Given the description of an element on the screen output the (x, y) to click on. 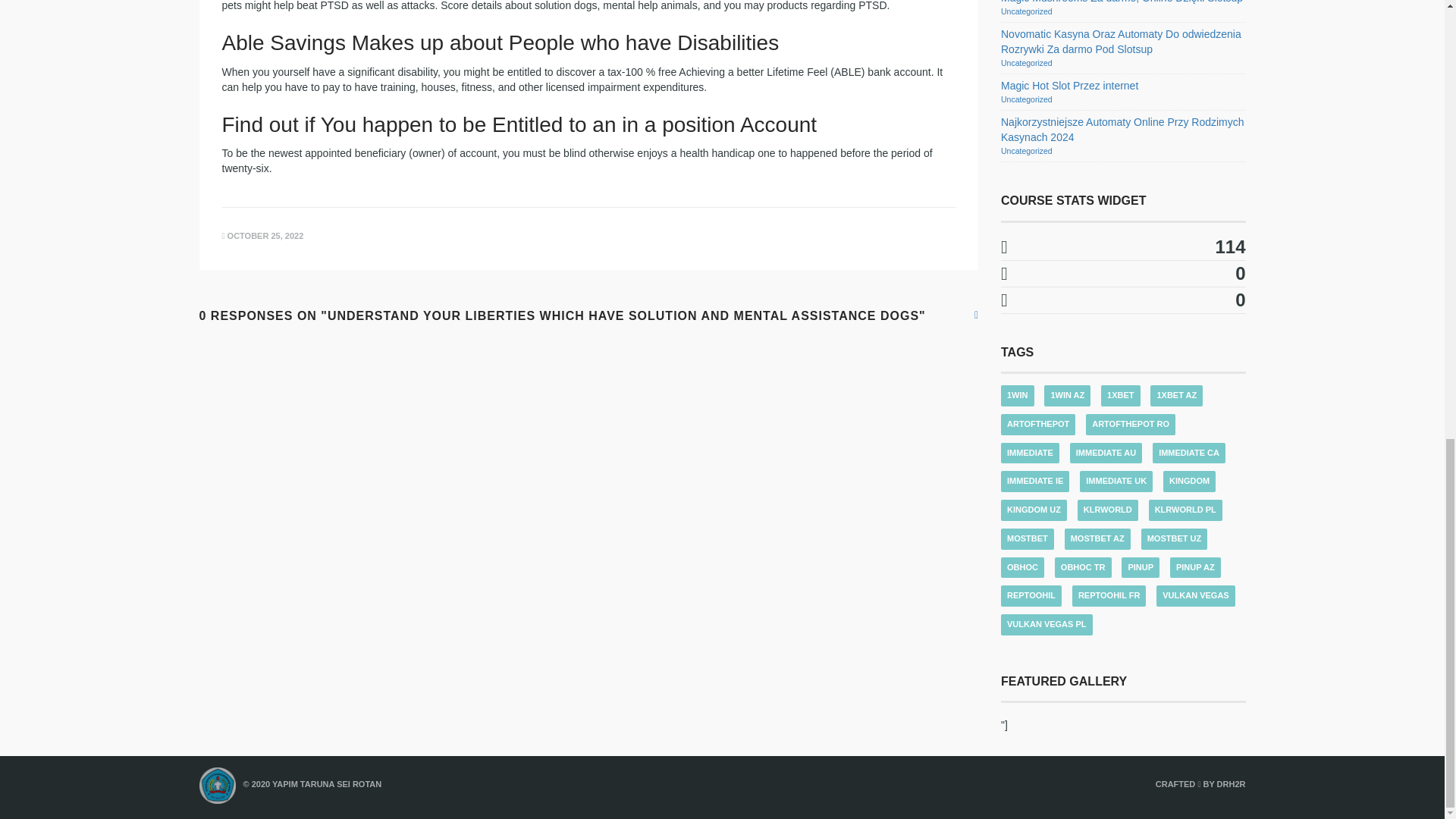
Magic Hot Slot Przez internet (1069, 85)
